Given the description of an element on the screen output the (x, y) to click on. 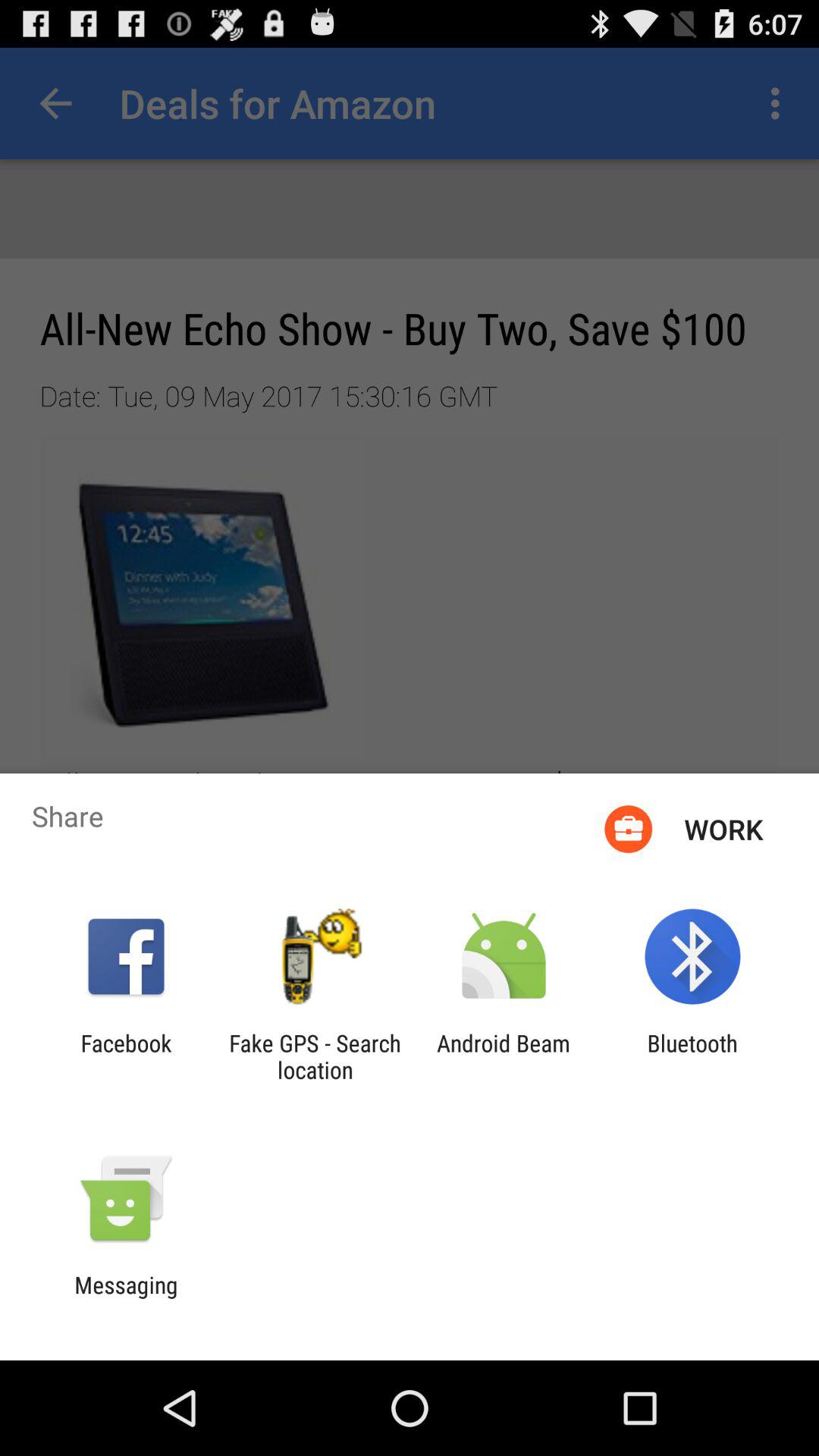
open the facebook icon (125, 1056)
